Given the description of an element on the screen output the (x, y) to click on. 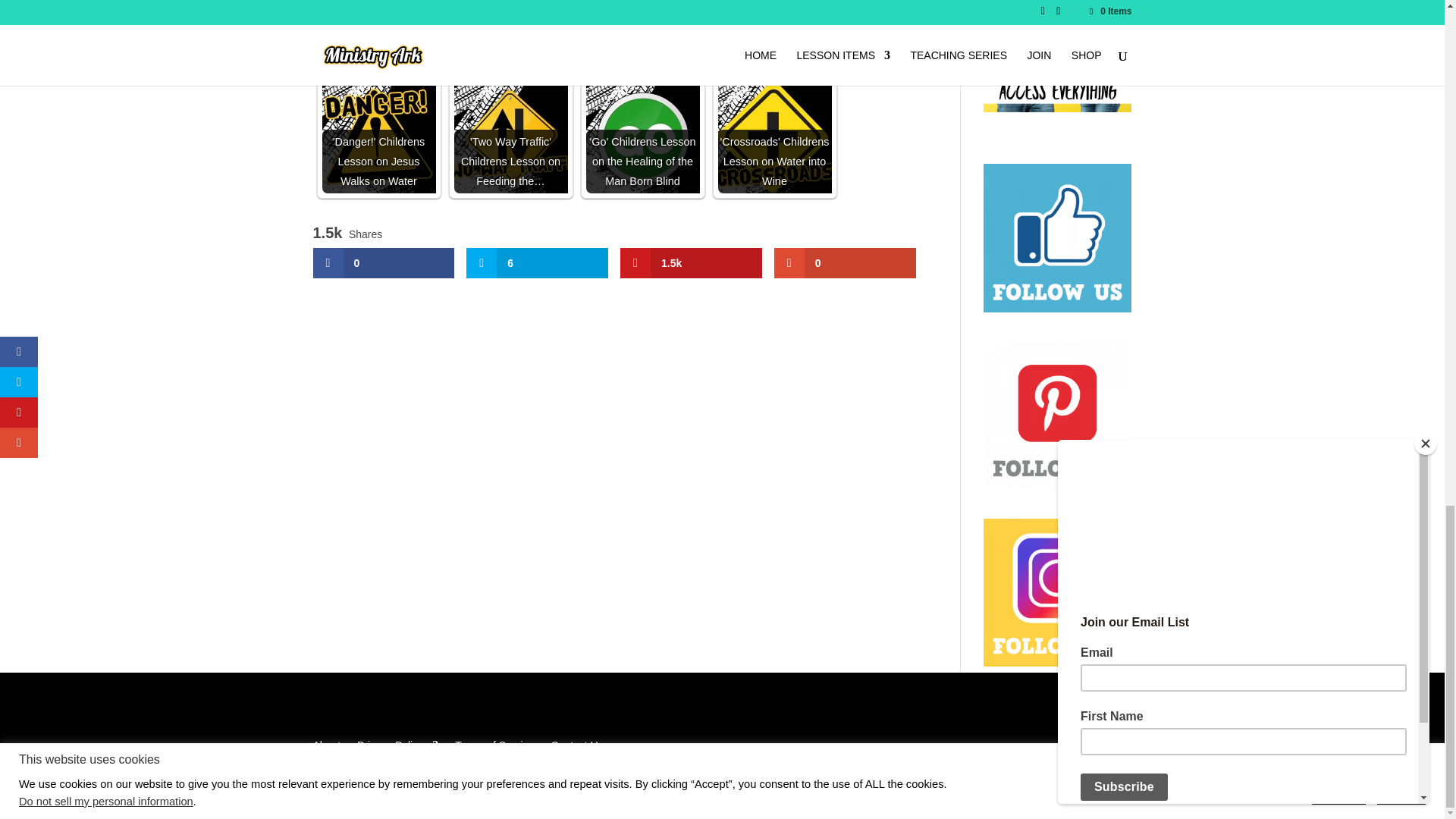
'Go' Childrens Lesson on the Healing of the Man Born Blind (641, 136)
'Crossroads' Childrens Lesson on Water into Wine (774, 136)
'Danger!' Childrens Lesson on Jesus Walks on Water (378, 136)
'Danger!' Childrens Lesson on Jesus Walks on Water (378, 136)
